Given the description of an element on the screen output the (x, y) to click on. 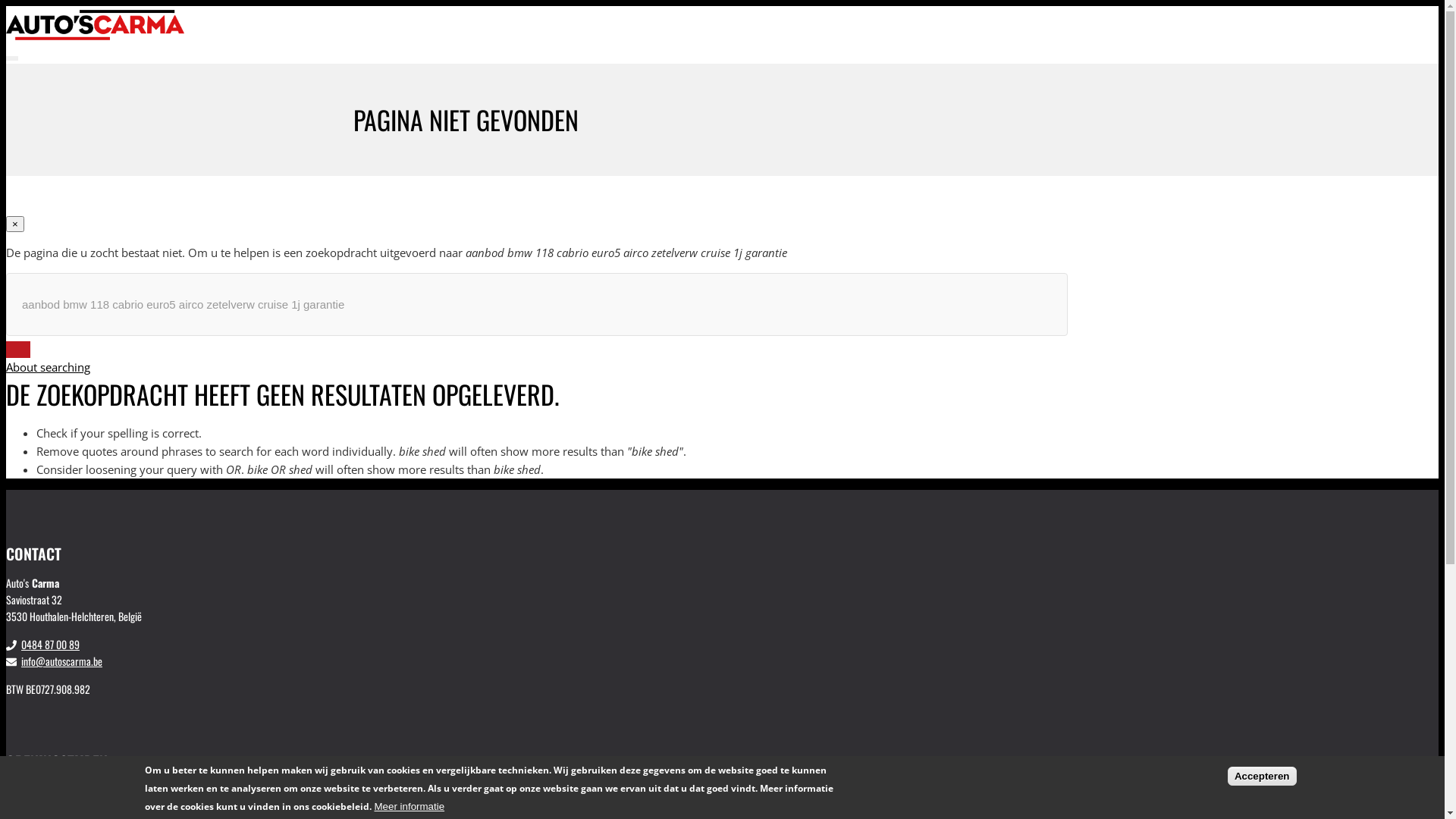
Geef de woorden op waarnaar u wilt zoeken. Element type: hover (536, 304)
Navigatie wisselen Element type: text (12, 58)
SERVICE Element type: text (1001, 119)
Meer informatie Element type: text (409, 806)
AANBOD Element type: text (1001, 101)
ZOEKEN Element type: text (18, 349)
OVER ONS Element type: text (1005, 137)
HOME Element type: text (997, 83)
Accepteren Element type: text (1261, 774)
Home Element type: hover (95, 35)
Overslaan en naar de inhoud gaan Element type: text (6, 6)
About searching Element type: text (48, 366)
0484 87 00 89 Element type: text (50, 644)
CONTACT Element type: text (1003, 155)
info@autoscarma.be Element type: text (61, 660)
